Given the description of an element on the screen output the (x, y) to click on. 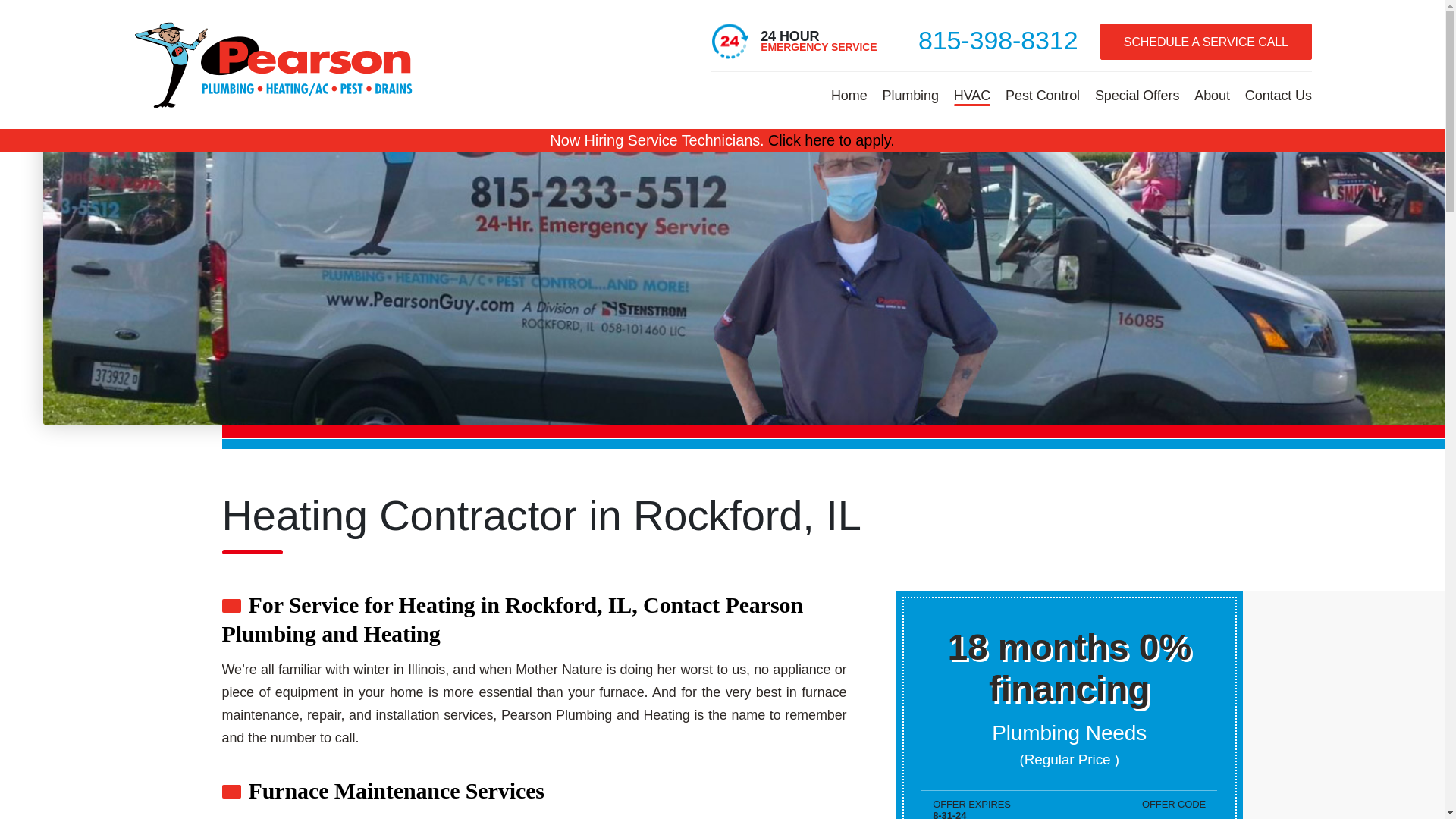
Click here to apply. (831, 139)
Pest Control (1042, 93)
HVAC (971, 93)
Home (849, 93)
815-398-8312 (998, 39)
About (1211, 93)
Pest Control (1042, 93)
Special Offers (1136, 93)
Plumbing (910, 93)
SCHEDULE A SERVICE CALL (1205, 41)
